Given the description of an element on the screen output the (x, y) to click on. 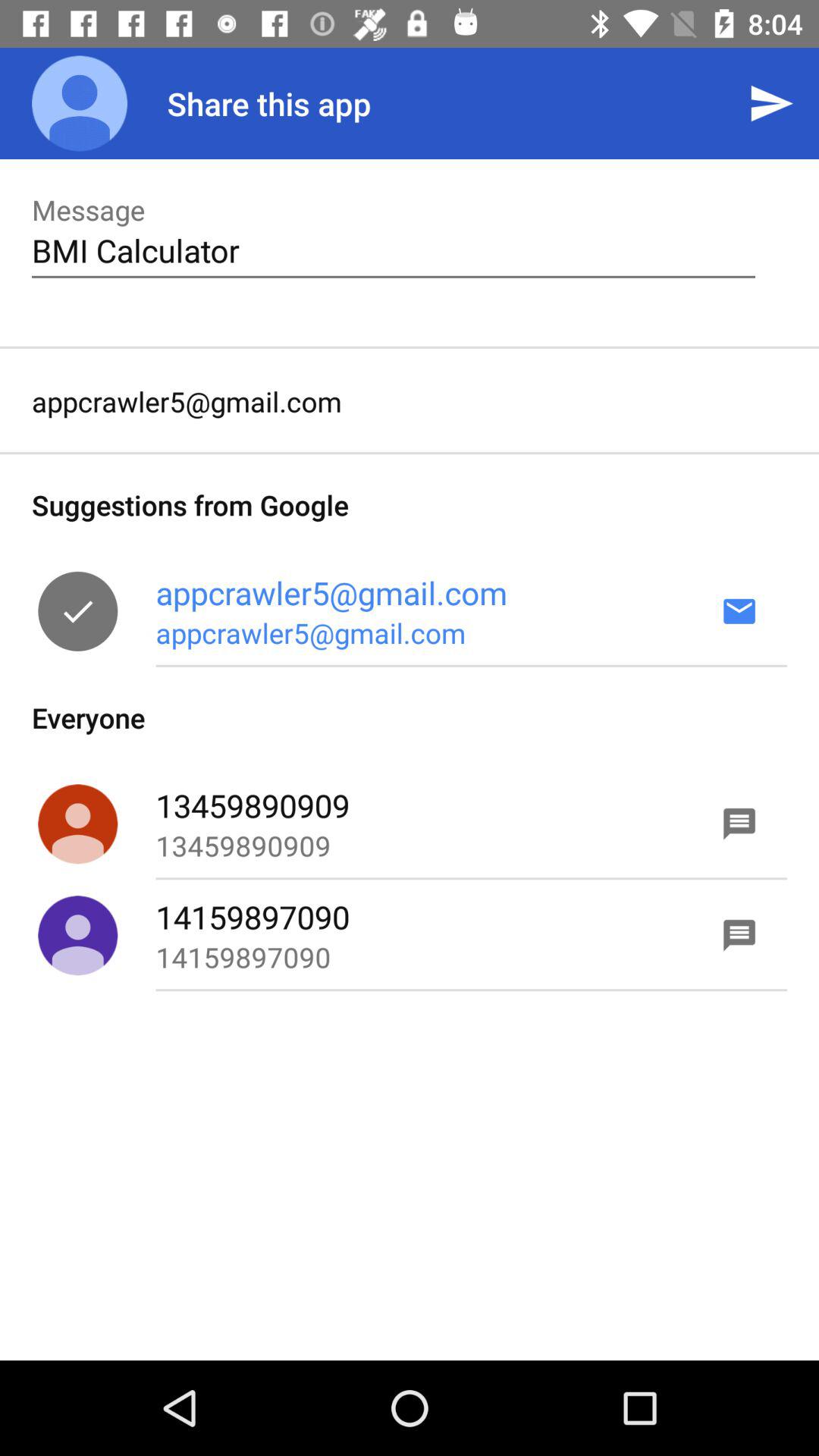
press the icon below the message (393, 249)
